Given the description of an element on the screen output the (x, y) to click on. 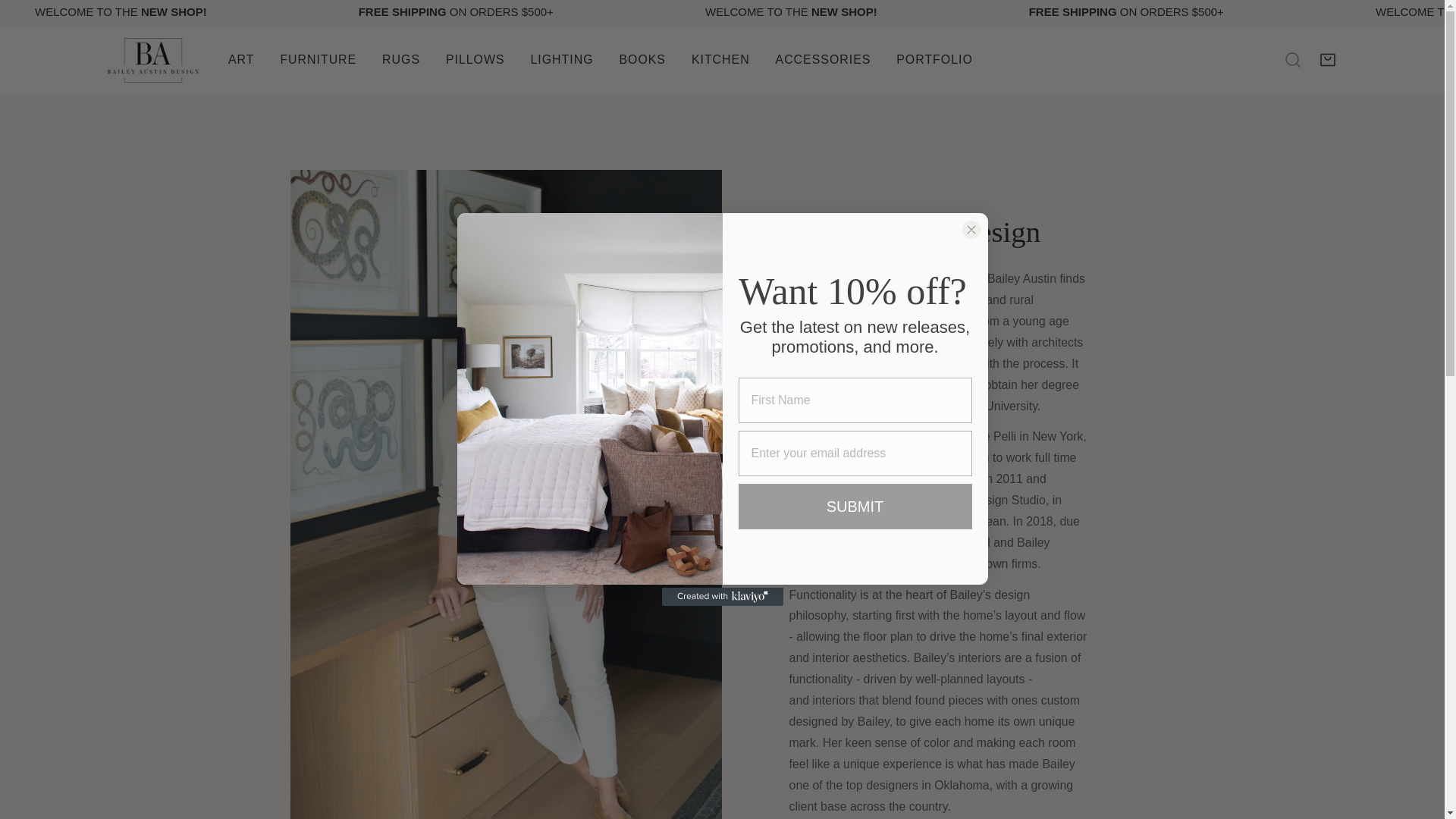
ACCESSORIES (822, 59)
WELCOME TO THE NEW SHOP! (830, 11)
BOOKS (641, 59)
RUGS (400, 59)
FURNITURE (317, 59)
WELCOME TO THE NEW SHOP! (161, 11)
PILLOWS (475, 59)
SKIP TO CONTENT (32, 18)
LIGHTING (562, 59)
PORTFOLIO (934, 59)
KITCHEN (720, 59)
Close dialog 1 (969, 229)
Bailey Austin Design (152, 59)
ART (240, 59)
